Given the description of an element on the screen output the (x, y) to click on. 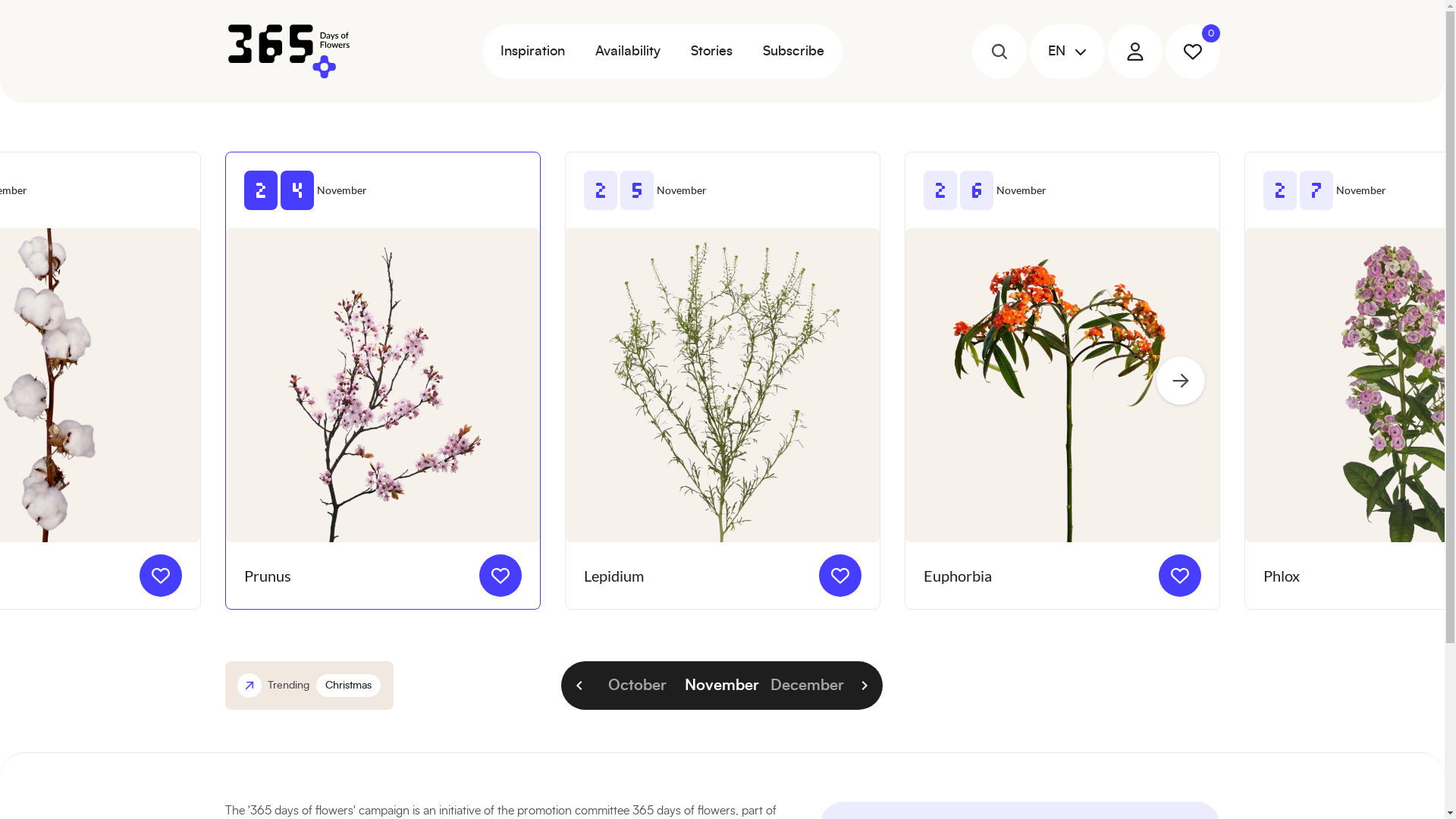
November
Euphorbia Element type: text (1061, 380)
December Element type: text (806, 685)
Christmas Element type: text (348, 685)
Inspiration Element type: text (532, 51)
November
Prunus Element type: text (381, 380)
October Element type: text (636, 685)
Stories Element type: text (710, 51)
0 Element type: text (1191, 51)
Availability Element type: text (626, 51)
November
Lepidium Element type: text (721, 380)
Subscribe Element type: text (793, 51)
